Given the description of an element on the screen output the (x, y) to click on. 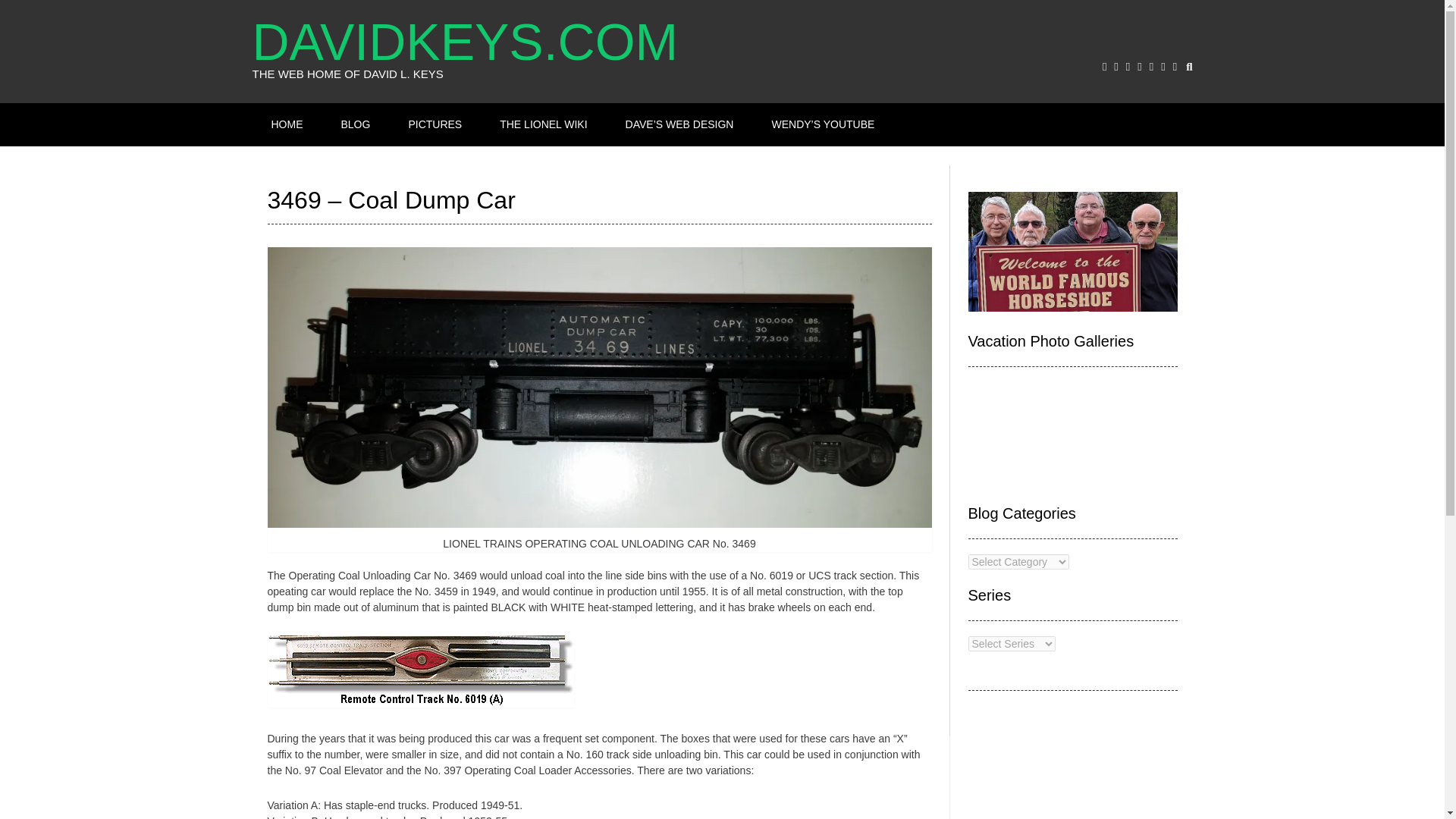
BLOG (355, 124)
HOME (287, 124)
DAVIDKEYS.COM (486, 41)
PICTURES (435, 124)
DavidKeys.com (486, 41)
THE LIONEL WIKI (543, 124)
